Given the description of an element on the screen output the (x, y) to click on. 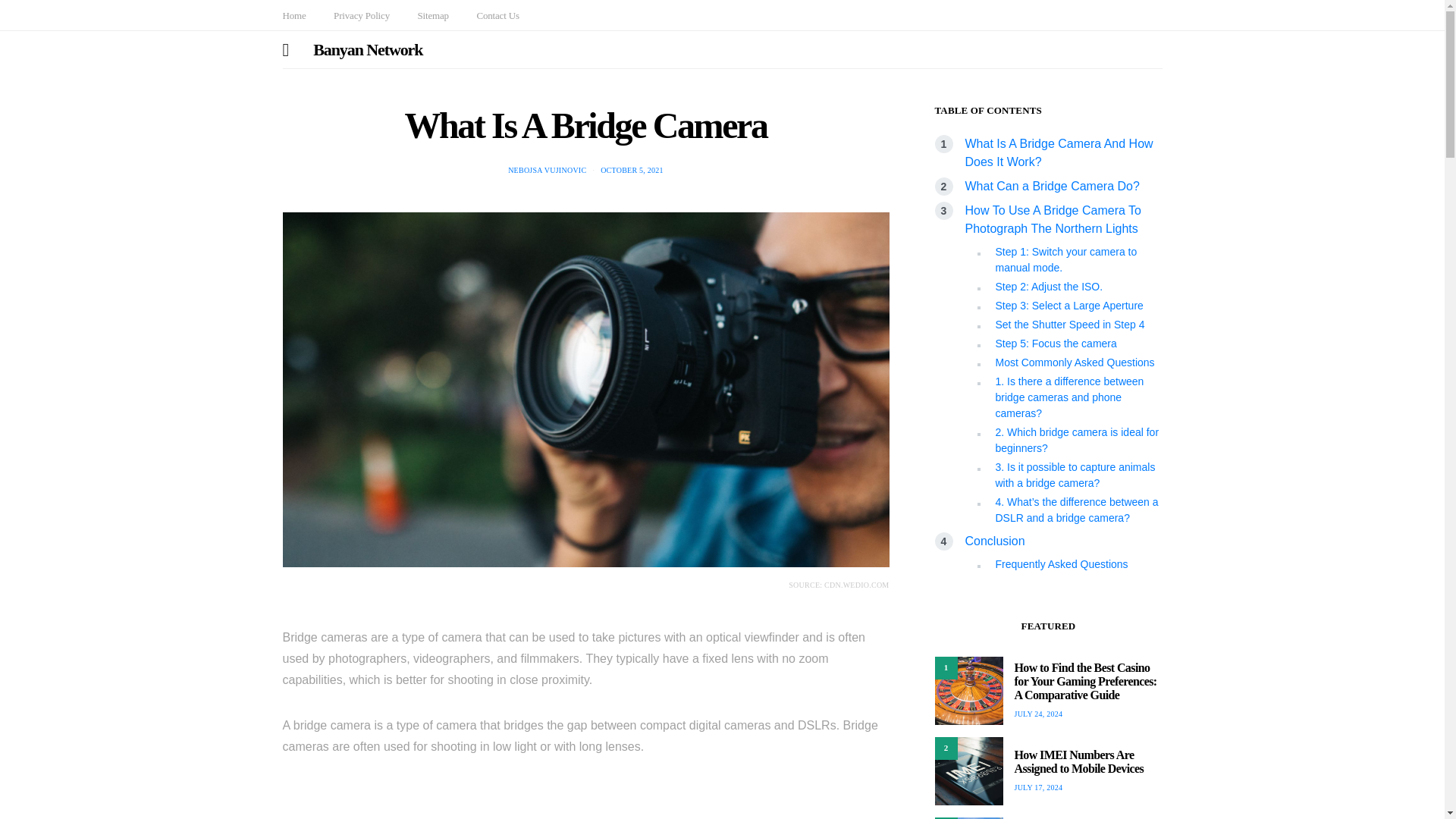
Banyan Network (367, 49)
View all posts by Nebojsa Vujinovic (547, 170)
OCTOBER 5, 2021 (631, 170)
Home (293, 15)
Step 2: Adjust the ISO. (1048, 286)
Privacy Policy (361, 15)
How To Use A Bridge Camera To Photograph The Northern Lights (1051, 219)
Step 1: Switch your camera to manual mode. (1065, 259)
Sitemap (432, 15)
Contact Us (497, 15)
Most Commonly Asked Questions (1074, 362)
NEBOJSA VUJINOVIC (547, 170)
What Can a Bridge Camera Do? (1050, 185)
Set the Shutter Speed in Step 4 (1069, 324)
